Given the description of an element on the screen output the (x, y) to click on. 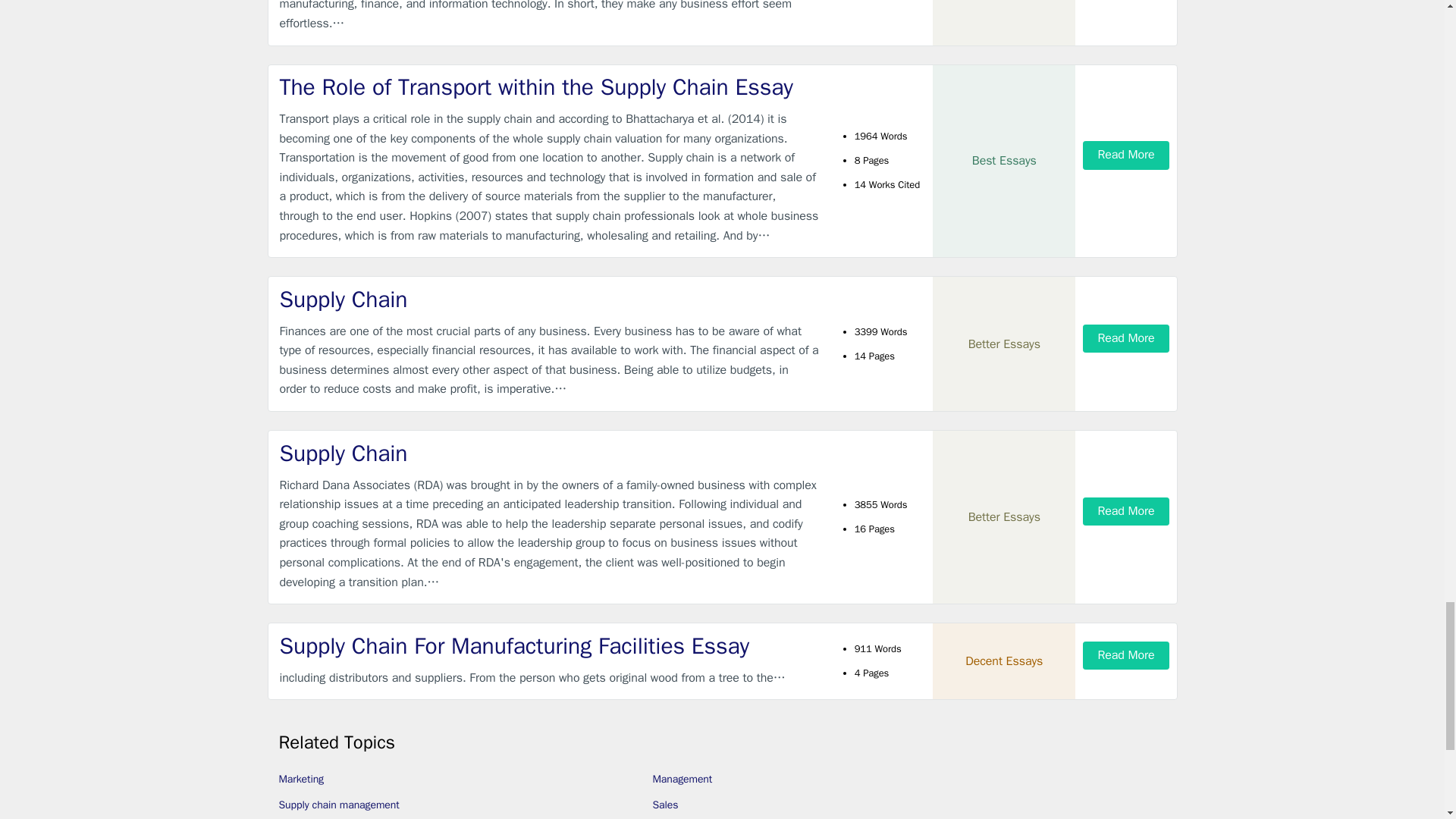
Supply chain management (338, 804)
Marketing (301, 779)
Management (681, 779)
Sales (665, 804)
